Given the description of an element on the screen output the (x, y) to click on. 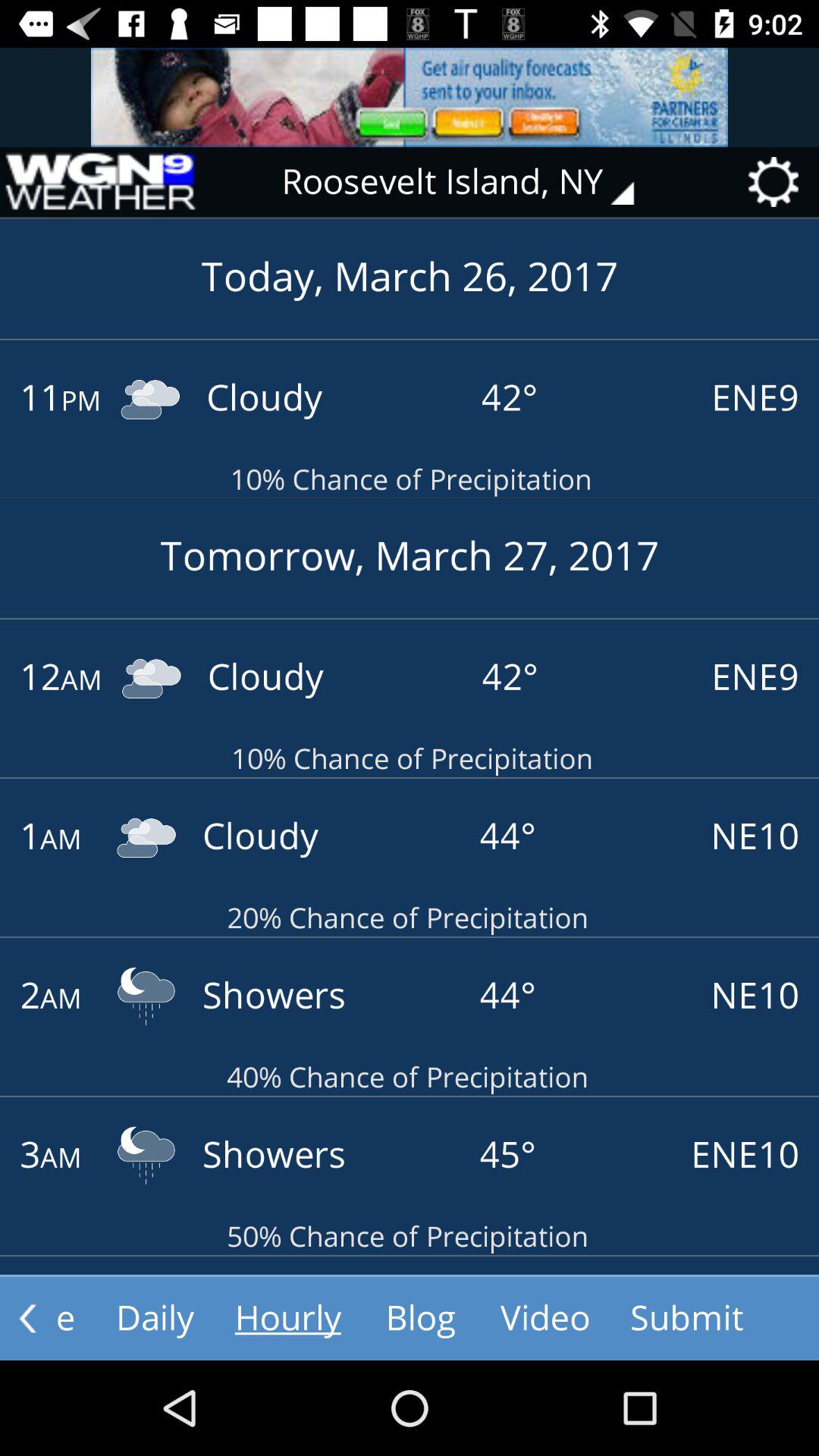
go back to main page (99, 182)
